Given the description of an element on the screen output the (x, y) to click on. 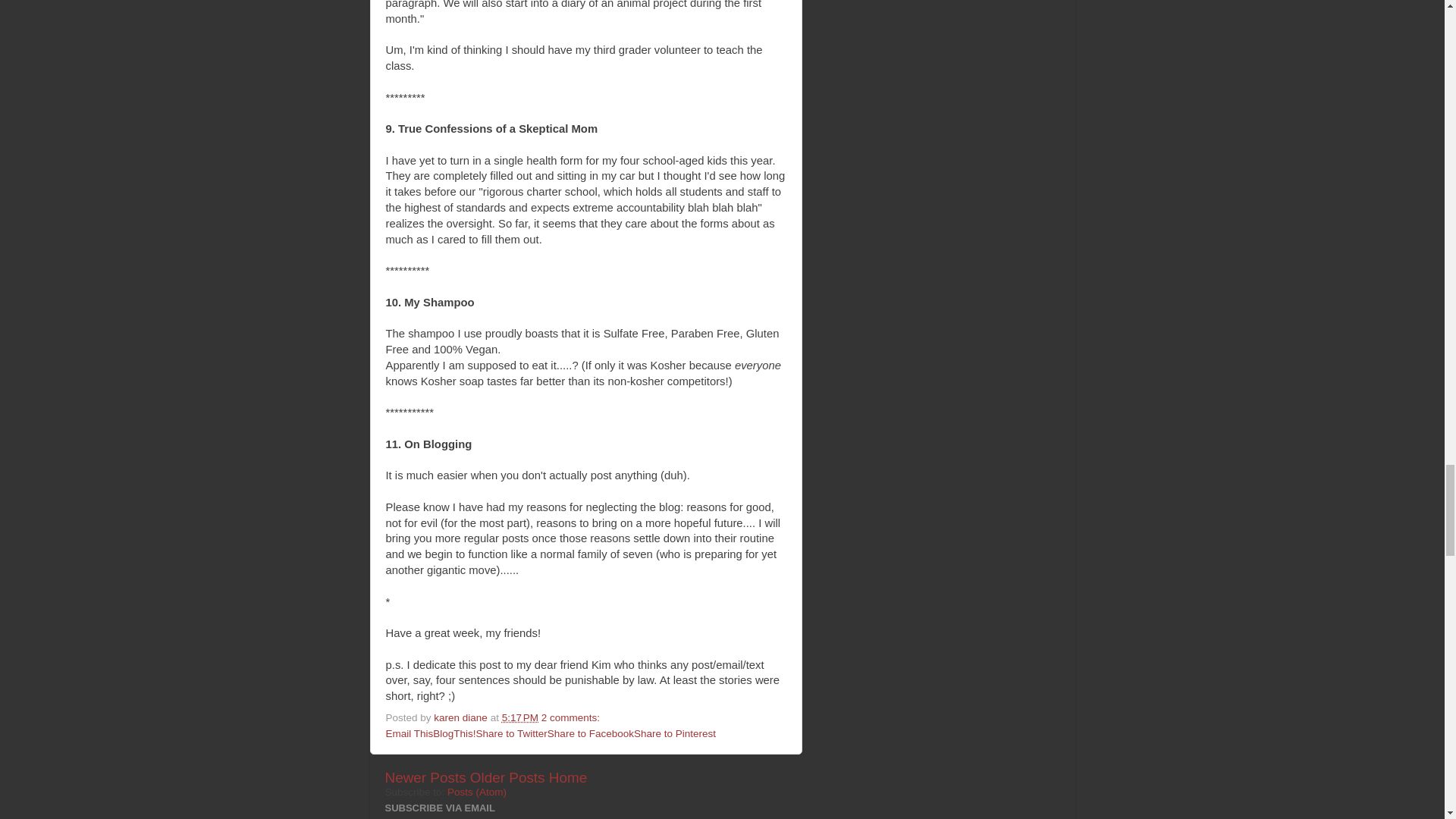
2 comments: (571, 717)
Email This (408, 733)
karen diane (461, 717)
